Given the description of an element on the screen output the (x, y) to click on. 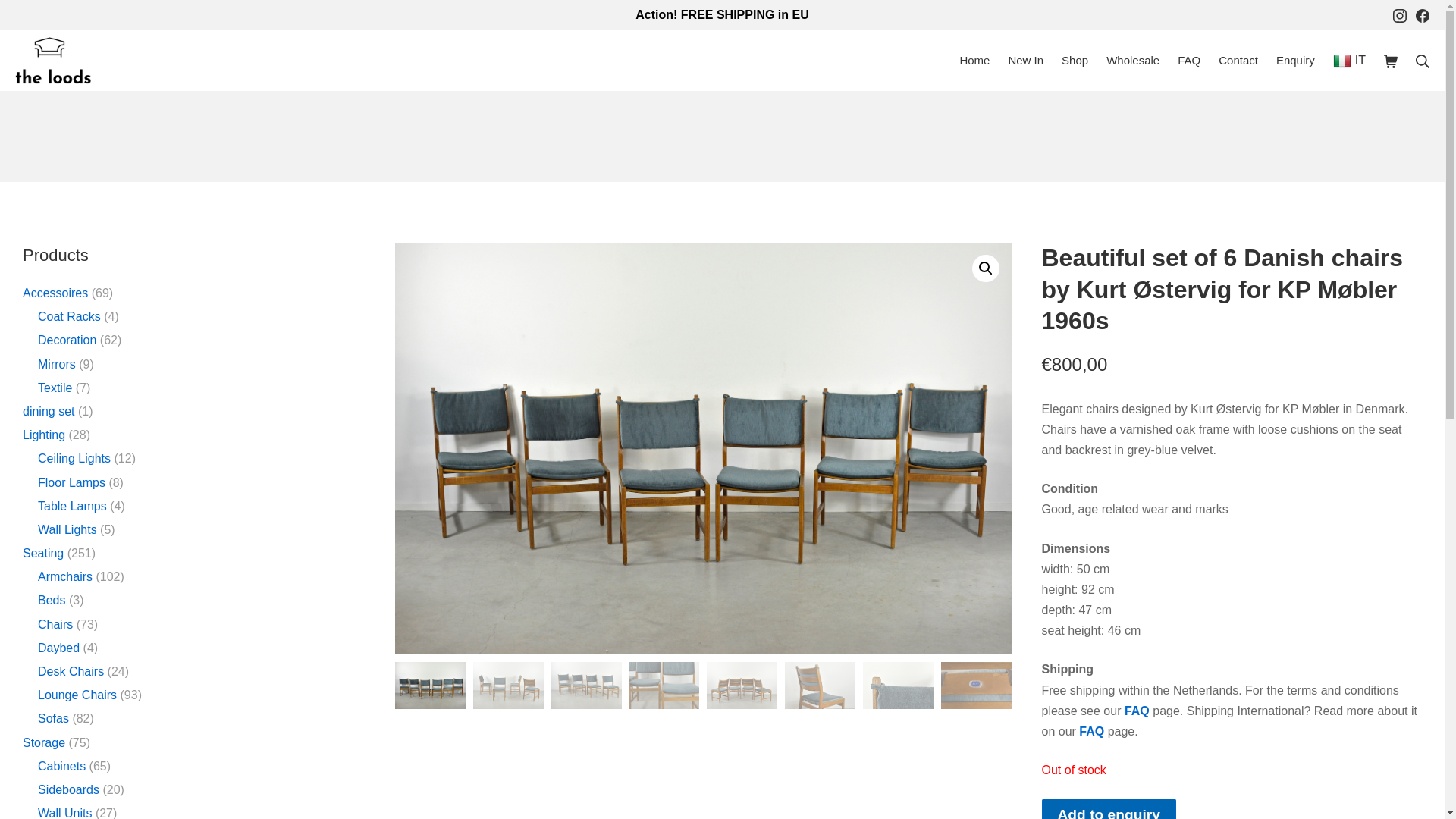
Search (35, 15)
Facebook (1422, 15)
Enquiry (1295, 60)
IT (1349, 60)
Wholesale (1132, 60)
FAQ (1188, 60)
Italian (1349, 60)
New In (1025, 60)
Instagram icon (1399, 15)
The Loods (52, 59)
Contact (1237, 60)
Home (974, 60)
Instagram (1399, 15)
Shop (1074, 60)
